Given the description of an element on the screen output the (x, y) to click on. 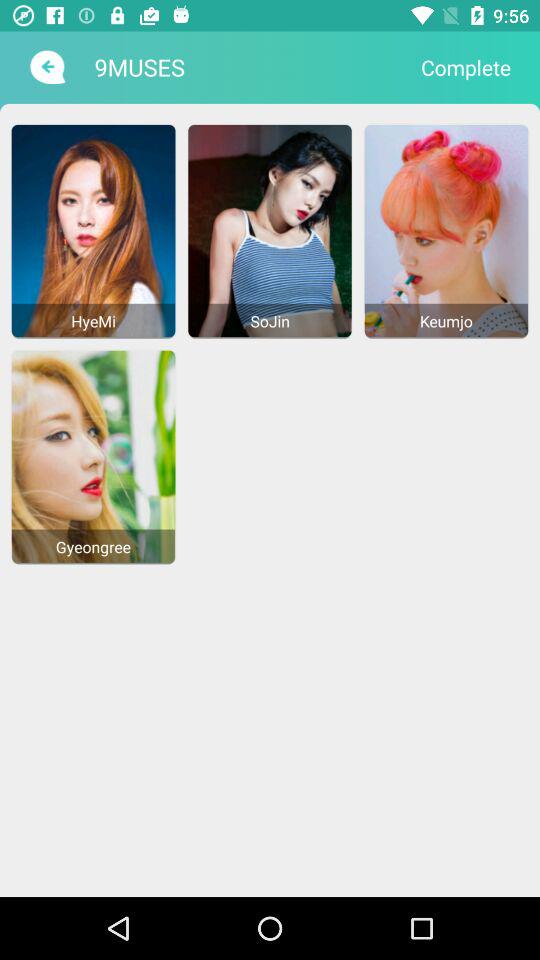
press the icon to the left of 9muses icon (45, 67)
